Given the description of an element on the screen output the (x, y) to click on. 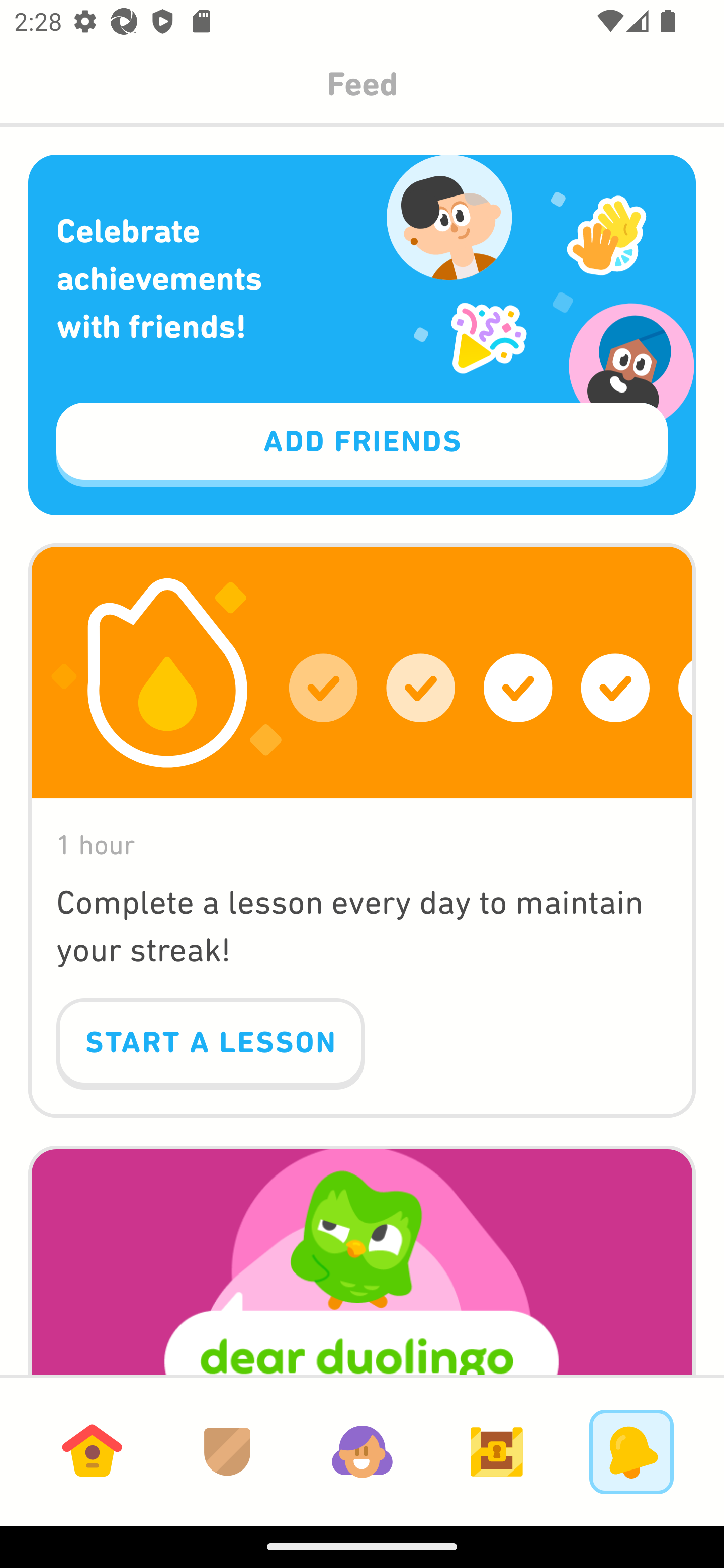
ADD FRIENDS (361, 444)
START A LESSON (210, 1043)
Learn Tab (91, 1451)
Leagues Tab (227, 1451)
Profile Tab (361, 1451)
Goals Tab (496, 1451)
News Tab (631, 1451)
